Given the description of an element on the screen output the (x, y) to click on. 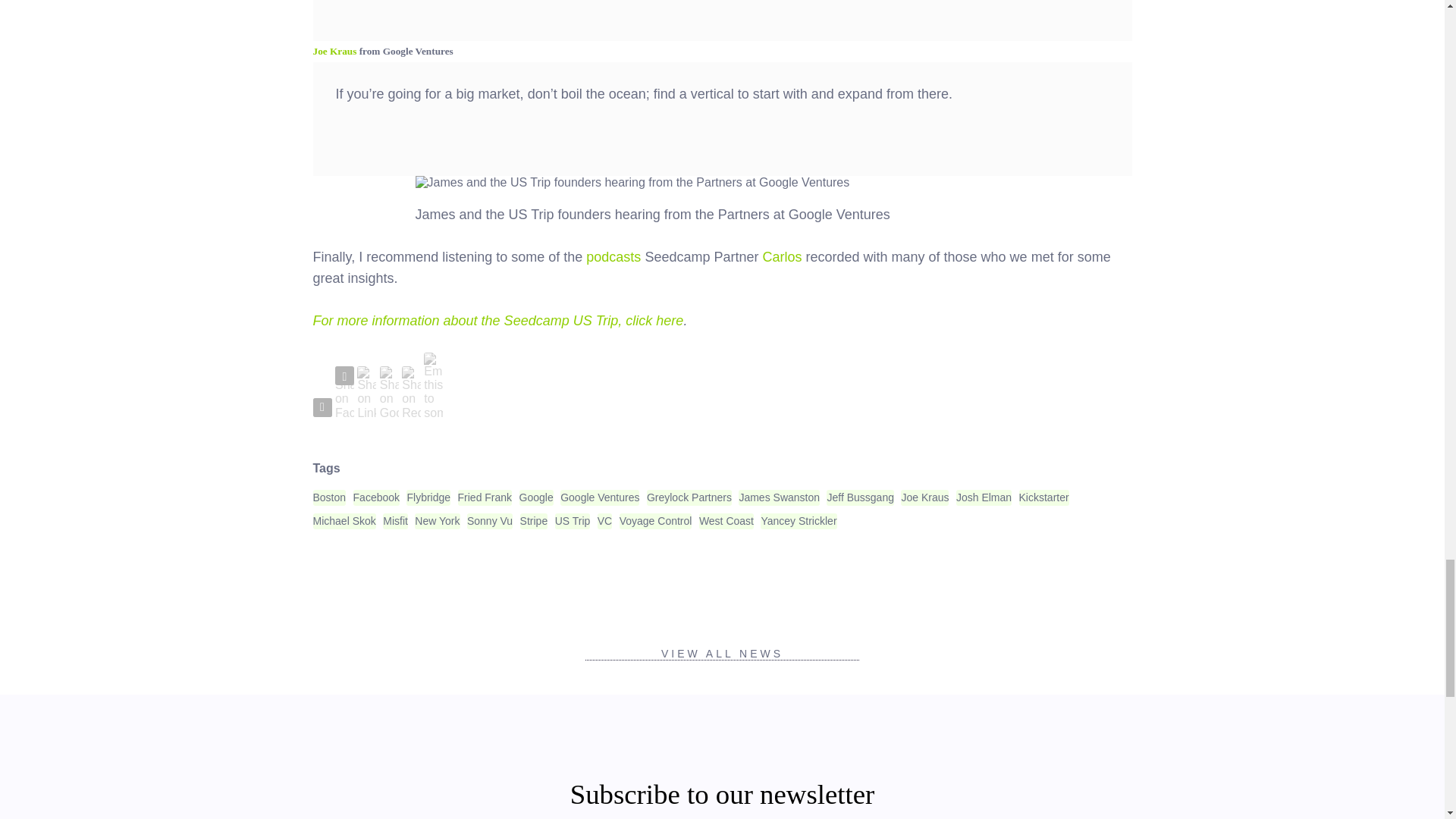
Flybridge (427, 497)
For more information about the Seedcamp US Trip, click here (497, 320)
LinkedIn (365, 393)
Facebook (375, 497)
Joe Kraus (334, 50)
Greylock Partners (689, 497)
Google (536, 497)
Reddit (410, 393)
Boston (329, 497)
Twitter (322, 407)
Carlos (781, 256)
Fried Frank (485, 497)
Google Ventures (599, 497)
Email (432, 386)
Facebook (343, 393)
